Given the description of an element on the screen output the (x, y) to click on. 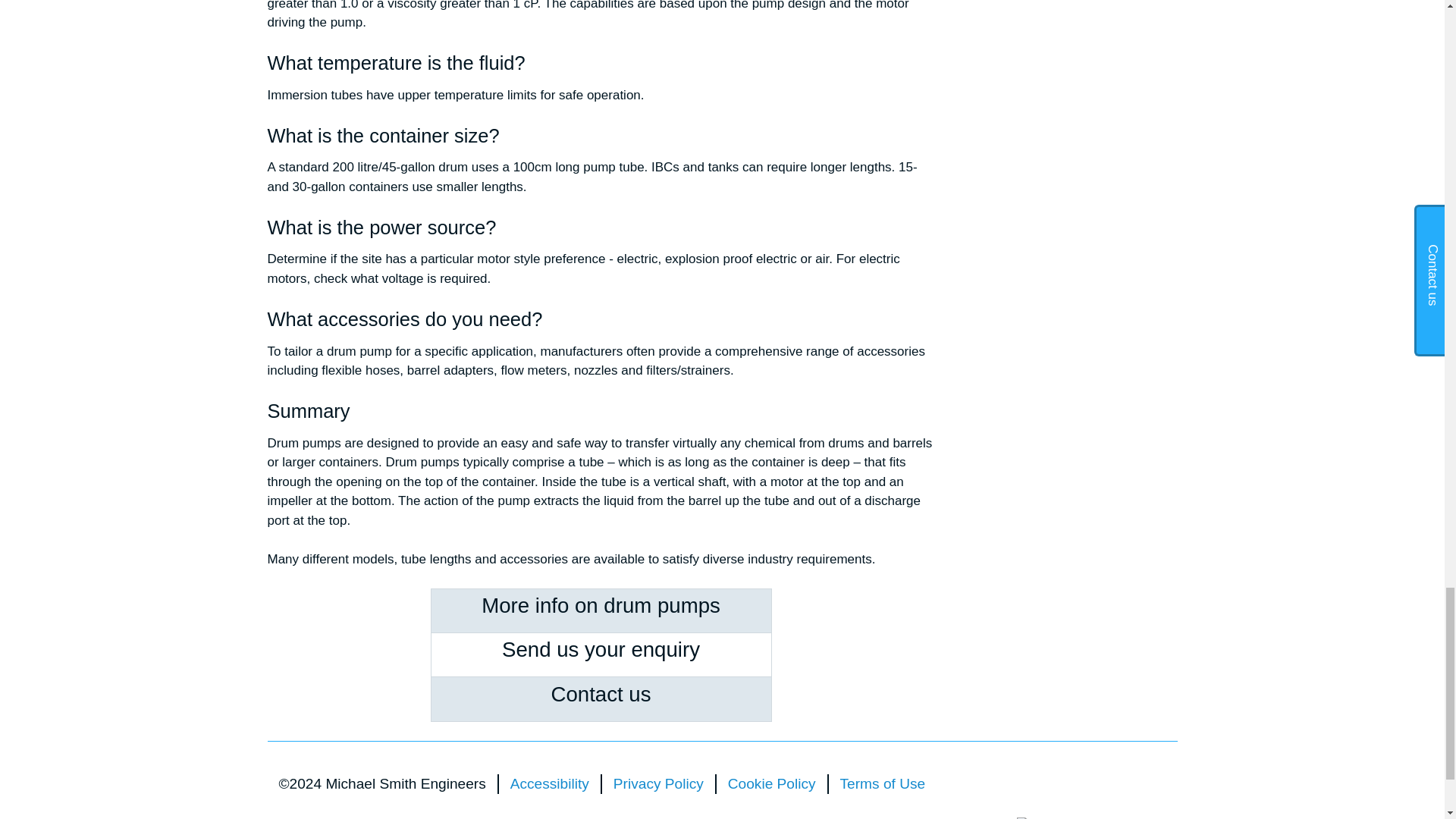
Contact us (600, 694)
Privacy Policy (657, 783)
Cookie Policy (771, 783)
Send us your enquiry (601, 649)
Accessibility (550, 783)
More info on drum pumps (600, 605)
Terms of Use (883, 783)
